Given the description of an element on the screen output the (x, y) to click on. 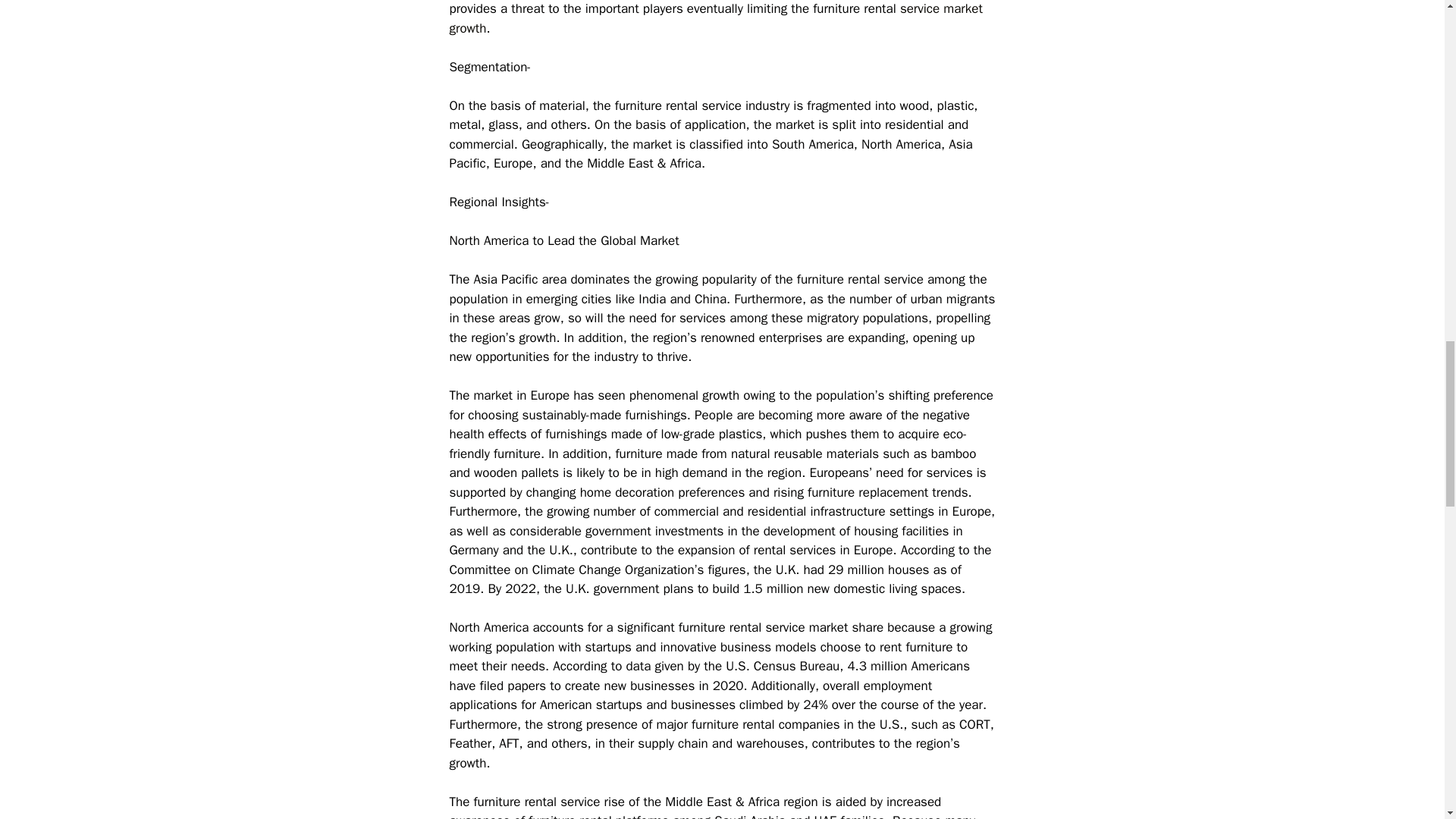
service market growth (714, 18)
